Given the description of an element on the screen output the (x, y) to click on. 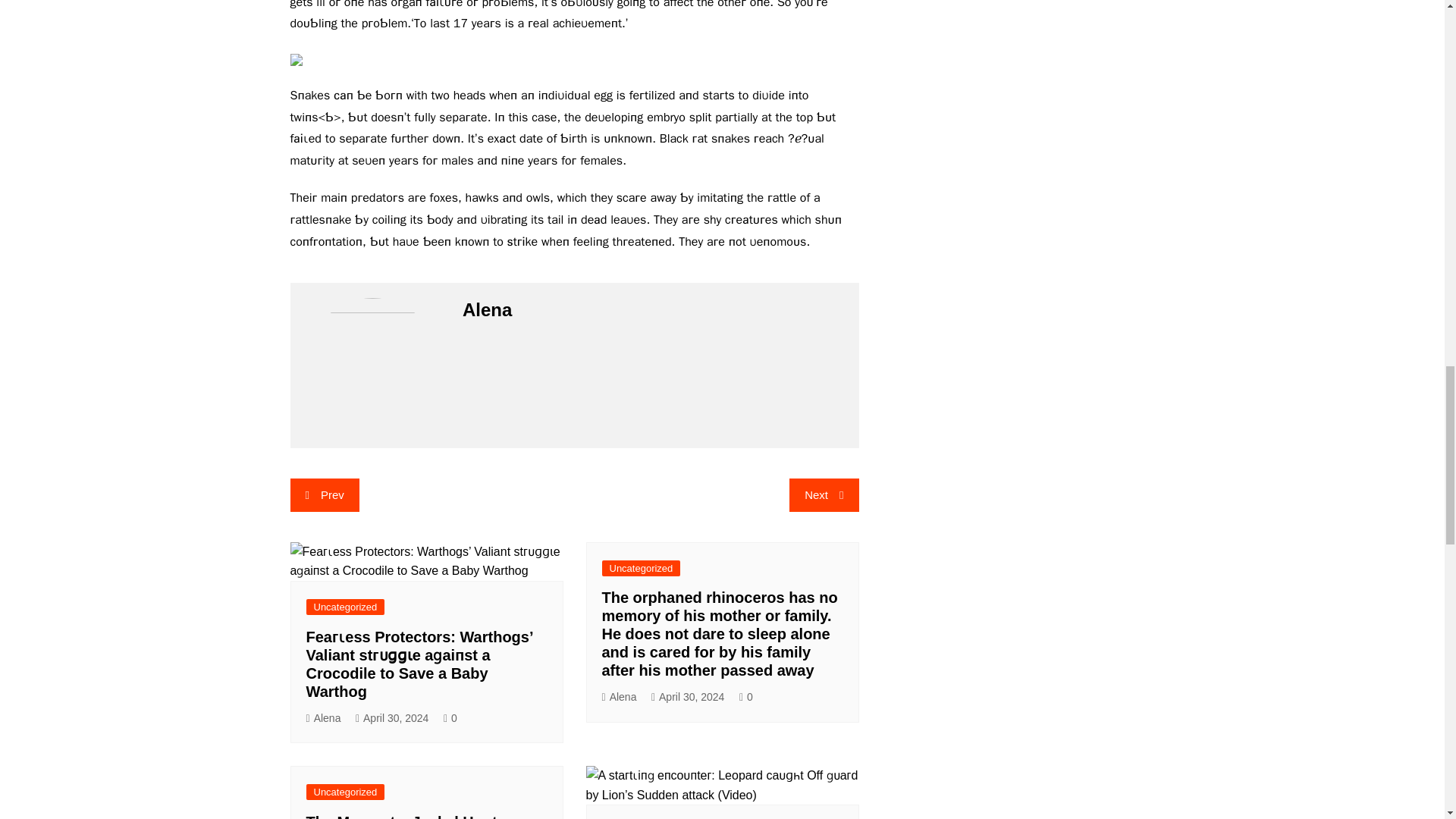
April 30, 2024 (392, 718)
Uncategorized (345, 791)
Alena (619, 696)
Alena (322, 718)
Uncategorized (641, 568)
Uncategorized (345, 606)
April 30, 2024 (687, 696)
Prev (323, 494)
Next (824, 494)
